Given the description of an element on the screen output the (x, y) to click on. 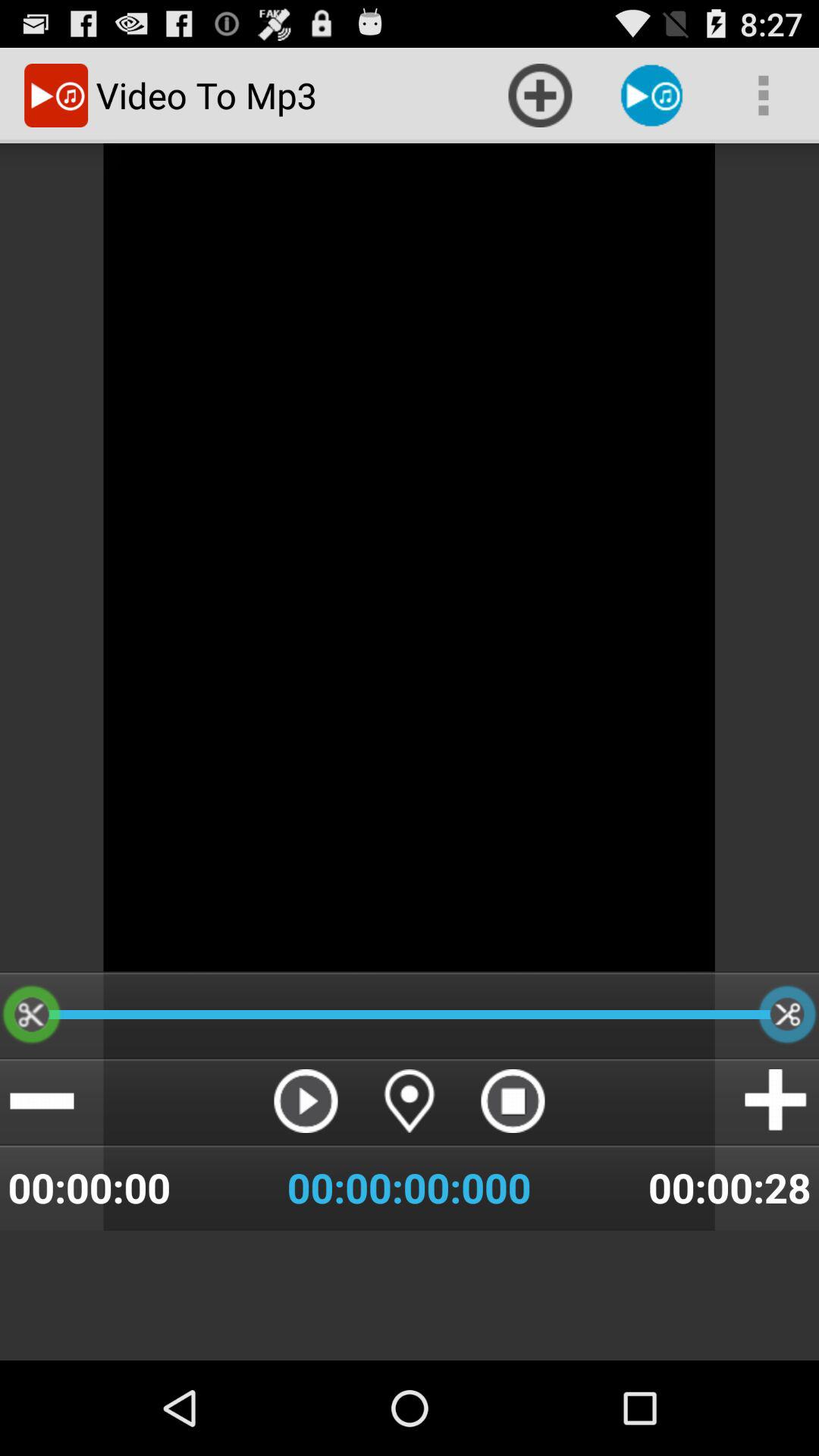
select the item above 00 00 00 item (305, 1100)
